Given the description of an element on the screen output the (x, y) to click on. 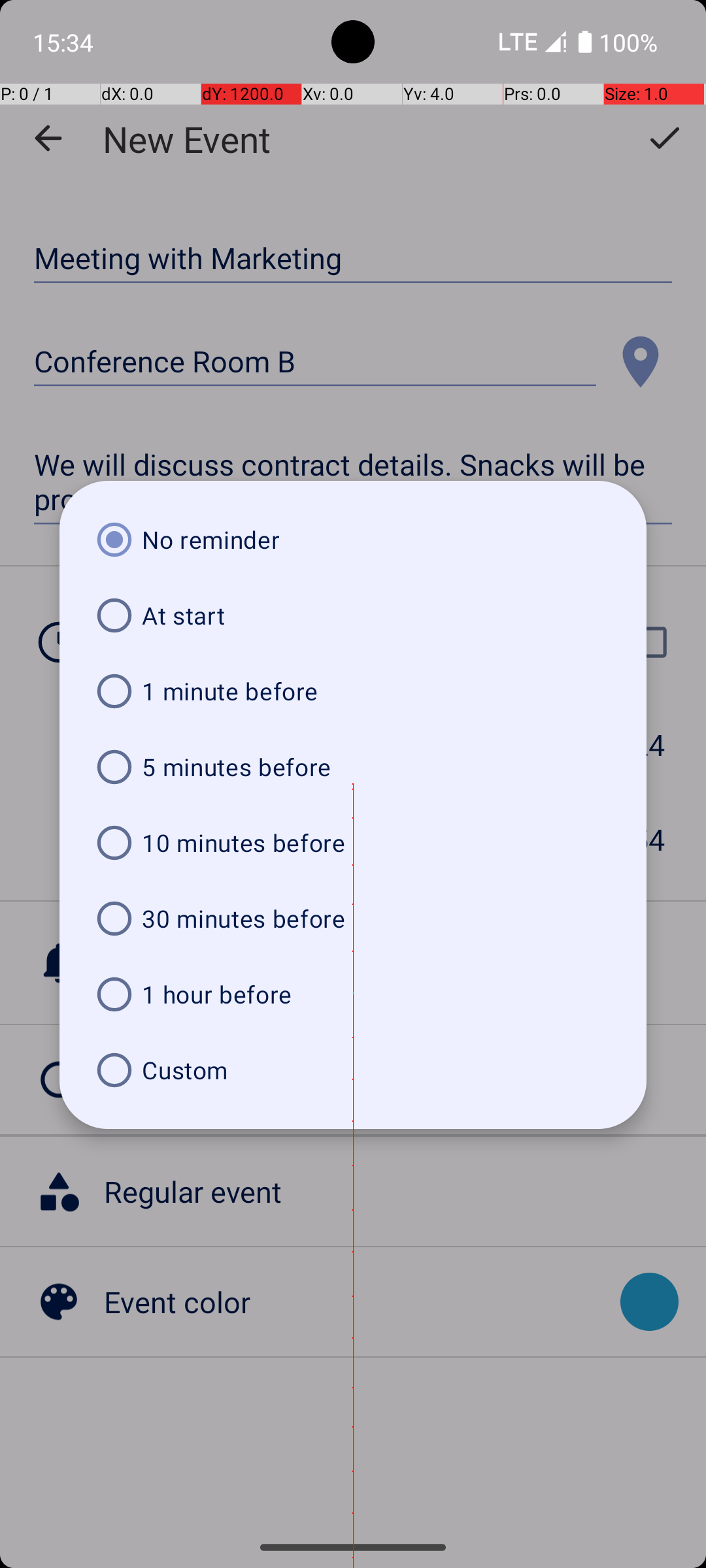
At start Element type: android.widget.RadioButton (352, 615)
1 minute before Element type: android.widget.RadioButton (352, 691)
5 minutes before Element type: android.widget.RadioButton (352, 766)
30 minutes before Element type: android.widget.RadioButton (352, 918)
1 hour before Element type: android.widget.RadioButton (352, 994)
